Given the description of an element on the screen output the (x, y) to click on. 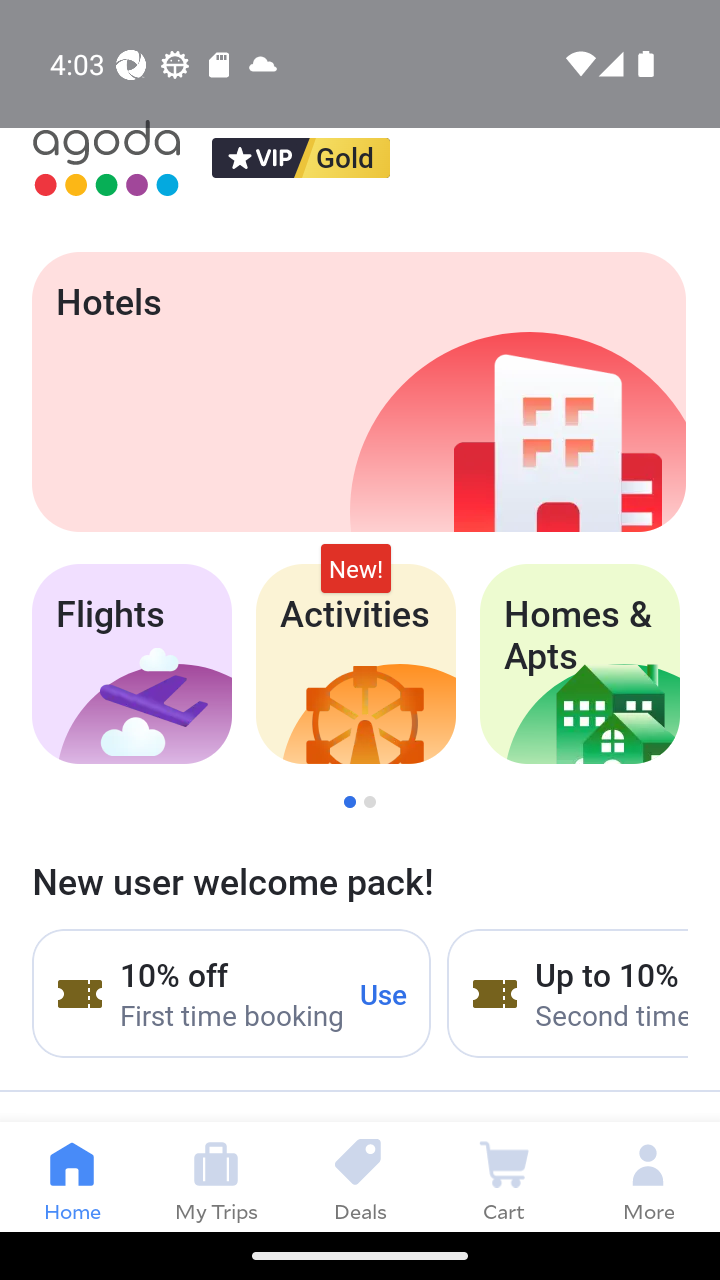
Hotels (358, 392)
New! (355, 568)
Flights (131, 664)
Activities (355, 664)
Homes & Apts (579, 664)
Use (384, 993)
Home (72, 1176)
My Trips (216, 1176)
Deals (360, 1176)
Cart (504, 1176)
More (648, 1176)
